Given the description of an element on the screen output the (x, y) to click on. 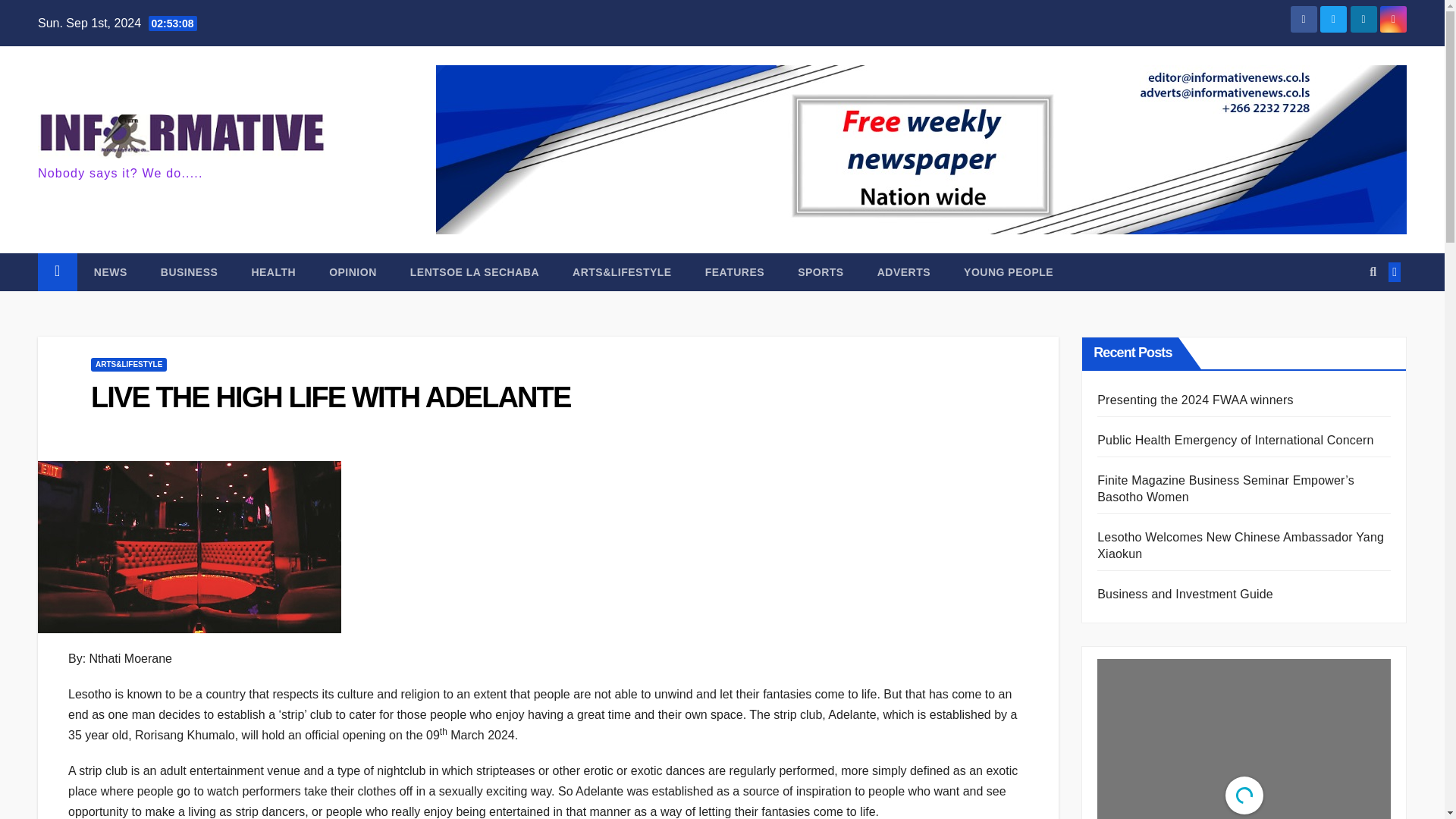
LIVE THE HIGH LIFE WITH ADELANTE (330, 397)
ADVERTS (903, 272)
LENTSOE LA SECHABA (474, 272)
Permalink to: LIVE THE HIGH LIFE WITH ADELANTE (330, 397)
Presenting the 2024 FWAA winners (1194, 399)
ADVERTS (903, 272)
YOUNG PEOPLE (1008, 272)
FEATURES (734, 272)
NEWS (110, 272)
OPINION (353, 272)
